Given the description of an element on the screen output the (x, y) to click on. 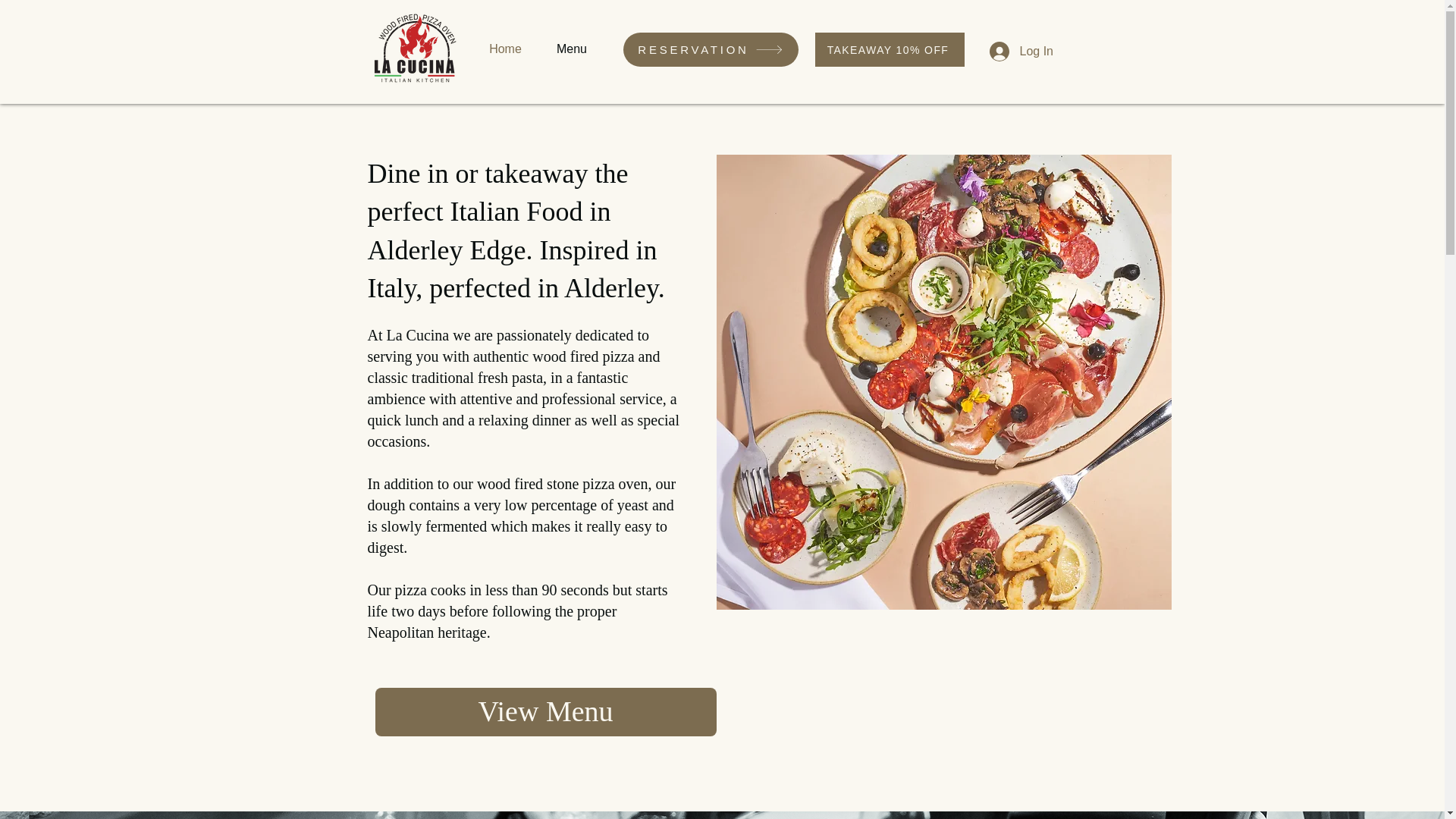
Menu (572, 48)
Home (505, 48)
View Menu (545, 711)
Log In (1012, 51)
RESERVATION (710, 49)
